Given the description of an element on the screen output the (x, y) to click on. 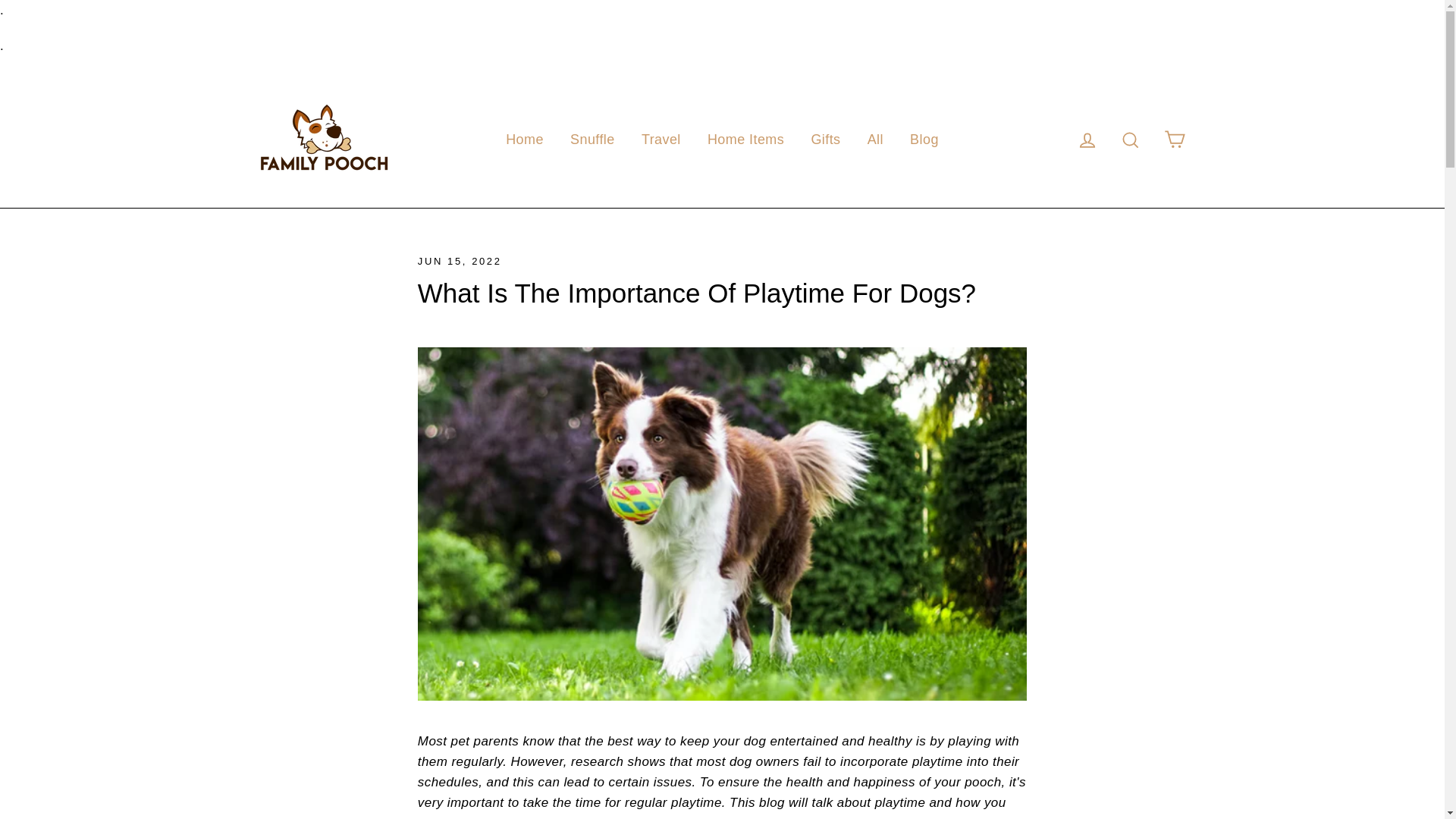
Blog (924, 139)
Log in (1086, 139)
Gifts (825, 139)
Home (524, 139)
Cart (1173, 139)
Home Items (744, 139)
Travel (661, 139)
All (875, 139)
Search (1130, 139)
Snuffle (592, 139)
